Given the description of an element on the screen output the (x, y) to click on. 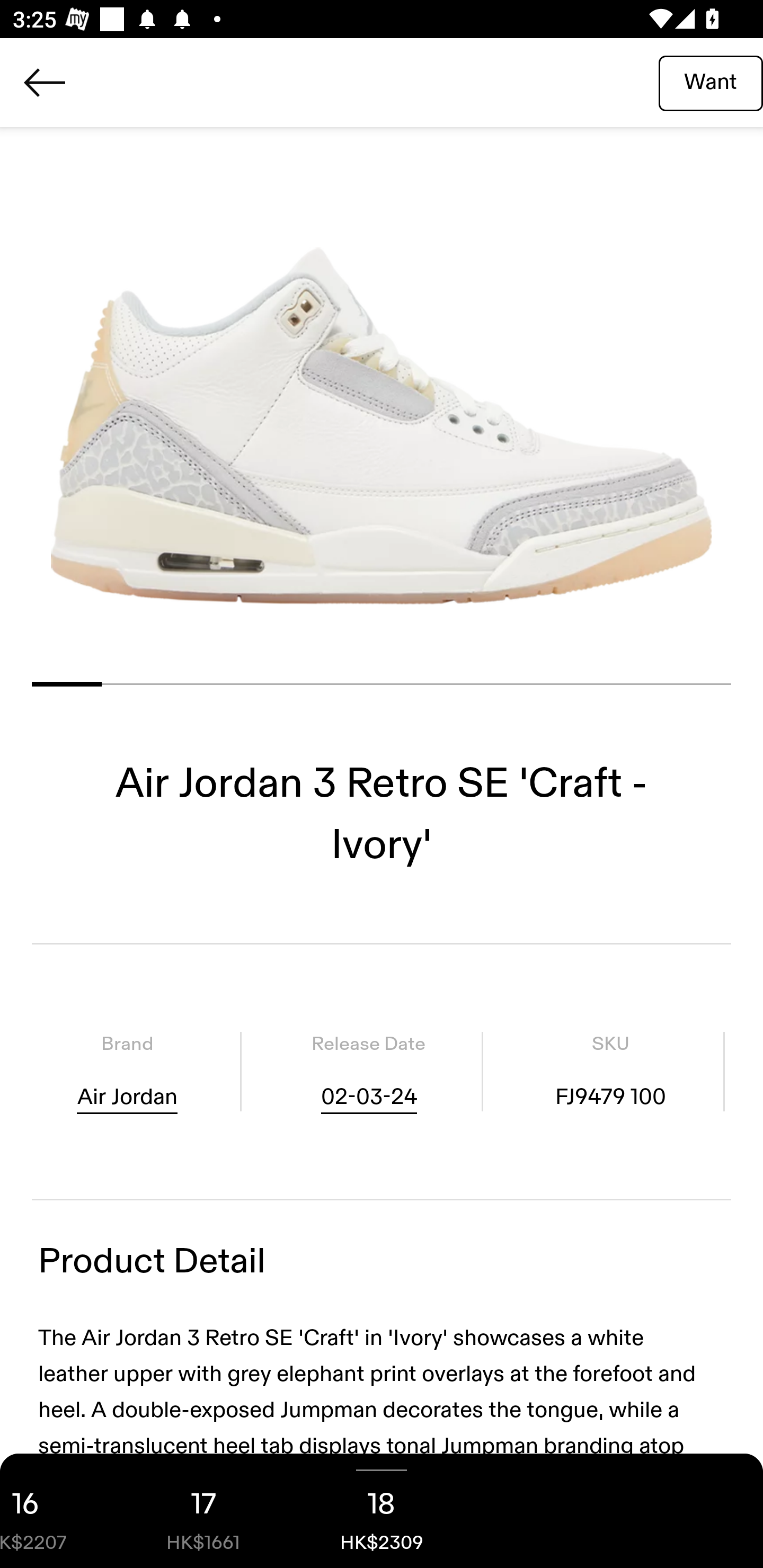
Want (710, 82)
Brand Air Jordan (126, 1070)
Release Date 02-03-24 (368, 1070)
SKU FJ9479 100 (609, 1070)
16 HK$2207 (57, 1510)
17 HK$1661 (203, 1510)
18 HK$2309 (381, 1510)
